Given the description of an element on the screen output the (x, y) to click on. 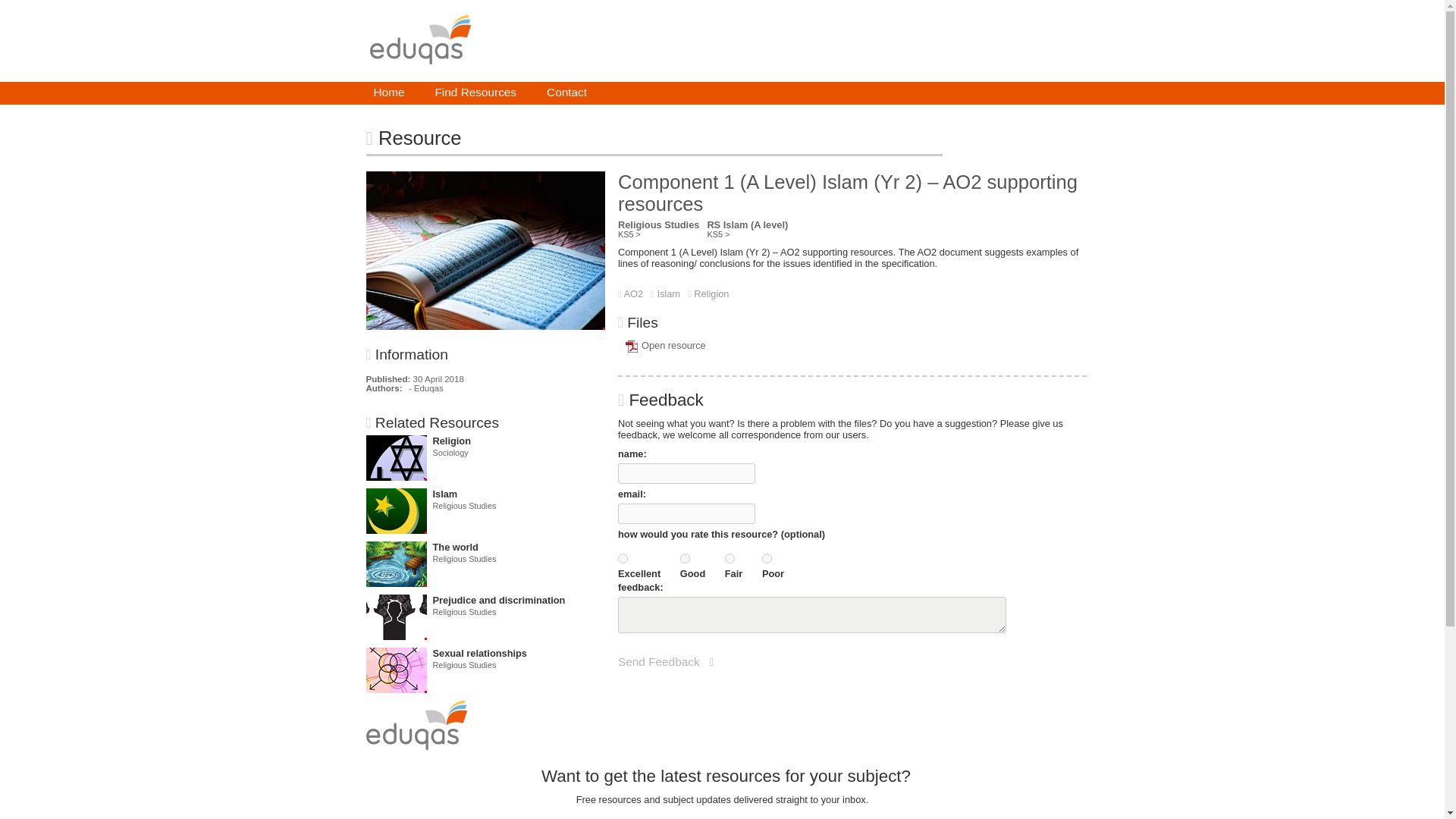
Send Feedback (665, 662)
Good (684, 558)
Contact (566, 92)
Home (388, 92)
Open resource (674, 345)
Find Resources (475, 92)
Poor (766, 558)
Home (388, 92)
Find Resources (475, 92)
Excellent (622, 558)
Fair (730, 558)
Contact (566, 92)
Send Feedback    (665, 662)
